Given the description of an element on the screen output the (x, y) to click on. 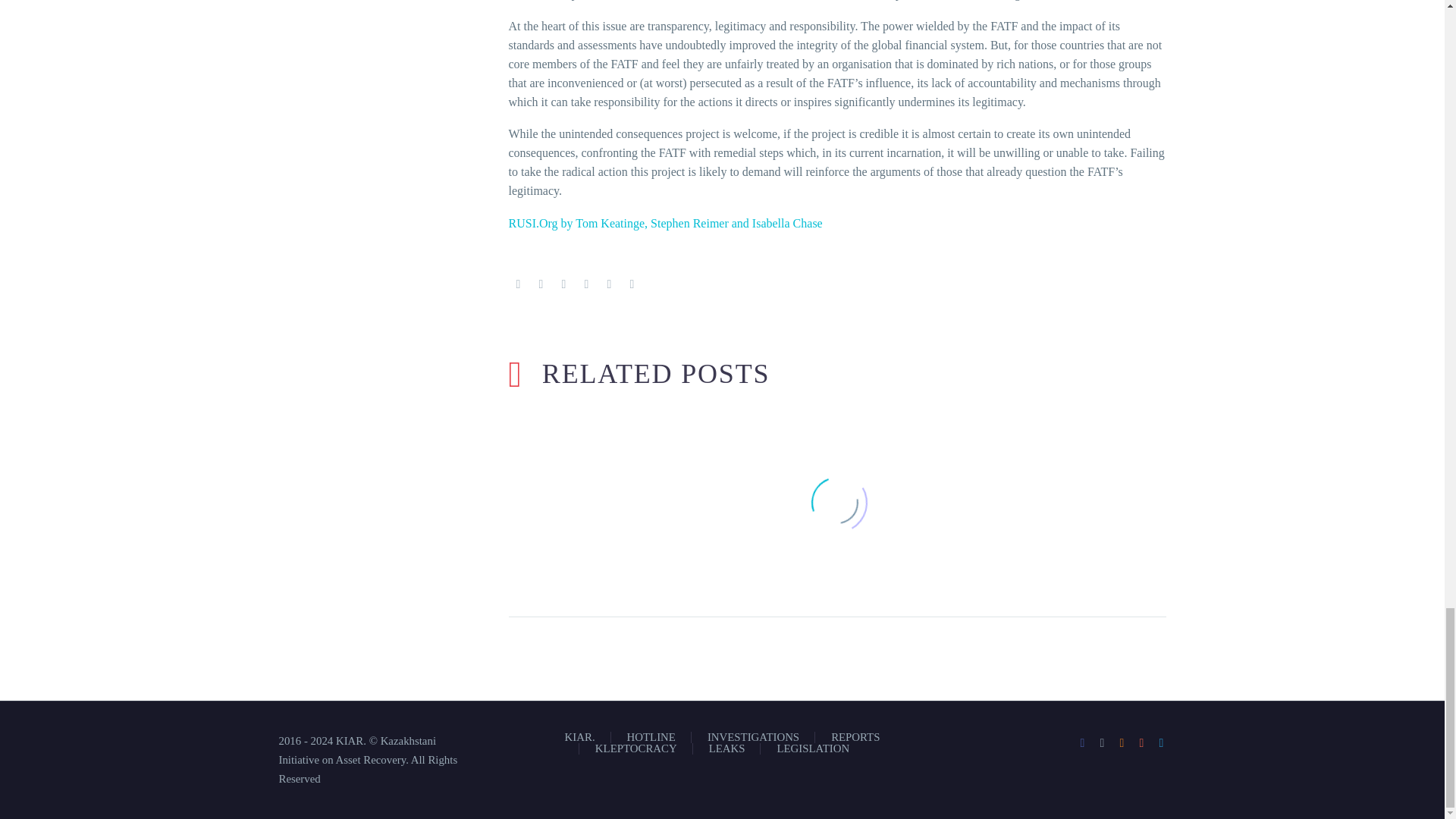
Tumblr (586, 284)
Facebook (518, 284)
Twitter (541, 284)
RUSI.Org by Tom Keatinge, Stephen Reimer and Isabella Chase (665, 223)
Pinterest (563, 284)
Facebook (1083, 743)
Share (1141, 743)
Reddit (632, 284)
Telegram (1161, 743)
RSS (1122, 743)
